Given the description of an element on the screen output the (x, y) to click on. 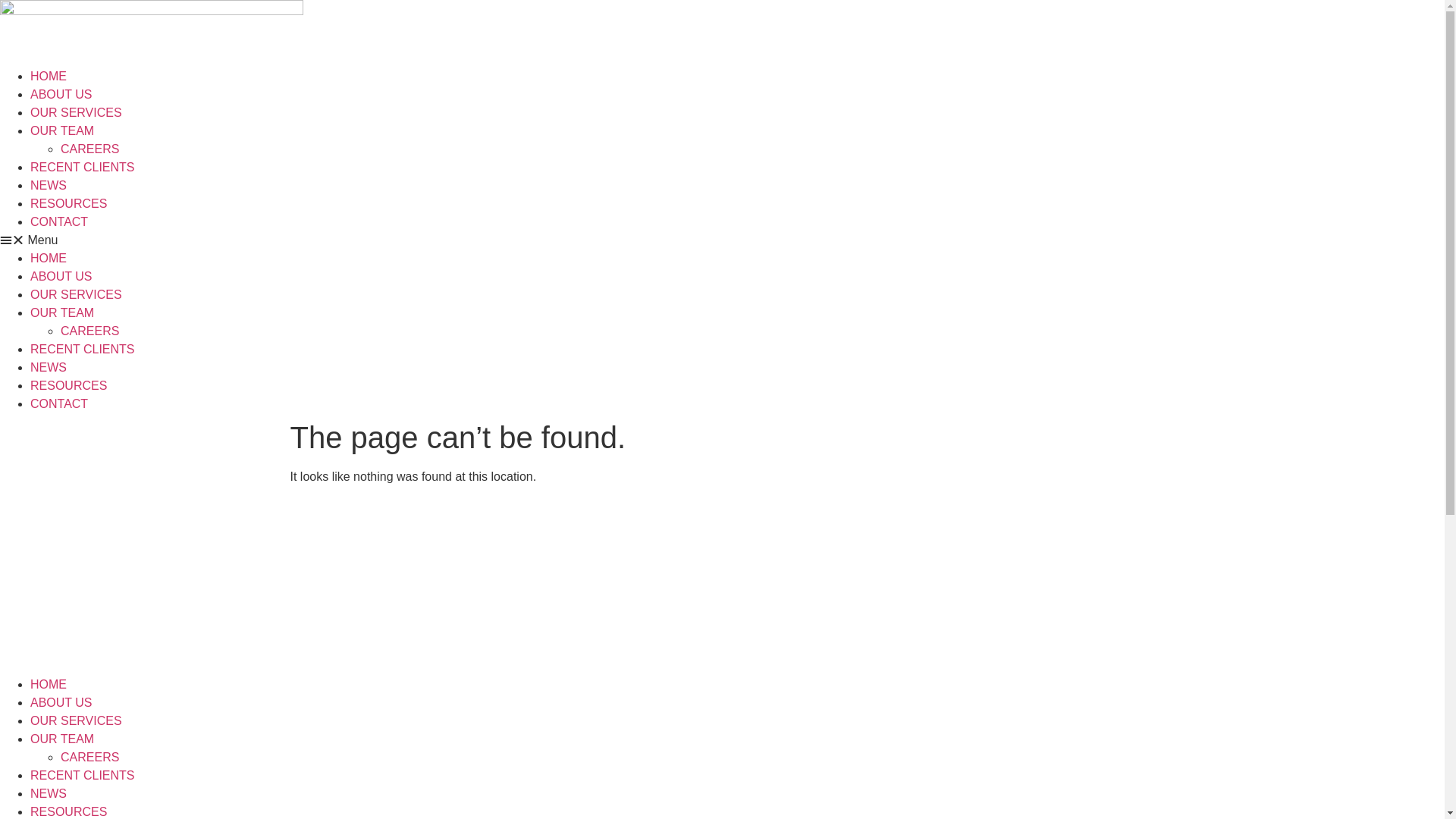
ABOUT US Element type: text (61, 275)
RECENT CLIENTS Element type: text (82, 348)
OUR TEAM Element type: text (62, 738)
OUR SERVICES Element type: text (76, 294)
ABOUT US Element type: text (61, 702)
NEWS Element type: text (48, 184)
ABOUT US Element type: text (61, 93)
OUR SERVICES Element type: text (76, 112)
RESOURCES Element type: text (68, 811)
OUR SERVICES Element type: text (76, 720)
HOME Element type: text (48, 75)
RESOURCES Element type: text (68, 203)
CONTACT Element type: text (58, 221)
RESOURCES Element type: text (68, 385)
RECENT CLIENTS Element type: text (82, 774)
NEWS Element type: text (48, 793)
RECENT CLIENTS Element type: text (82, 166)
CAREERS Element type: text (89, 756)
CAREERS Element type: text (89, 148)
CONTACT Element type: text (58, 403)
NEWS Element type: text (48, 366)
CAREERS Element type: text (89, 330)
OUR TEAM Element type: text (62, 130)
OUR TEAM Element type: text (62, 312)
HOME Element type: text (48, 257)
HOME Element type: text (48, 683)
